Given the description of an element on the screen output the (x, y) to click on. 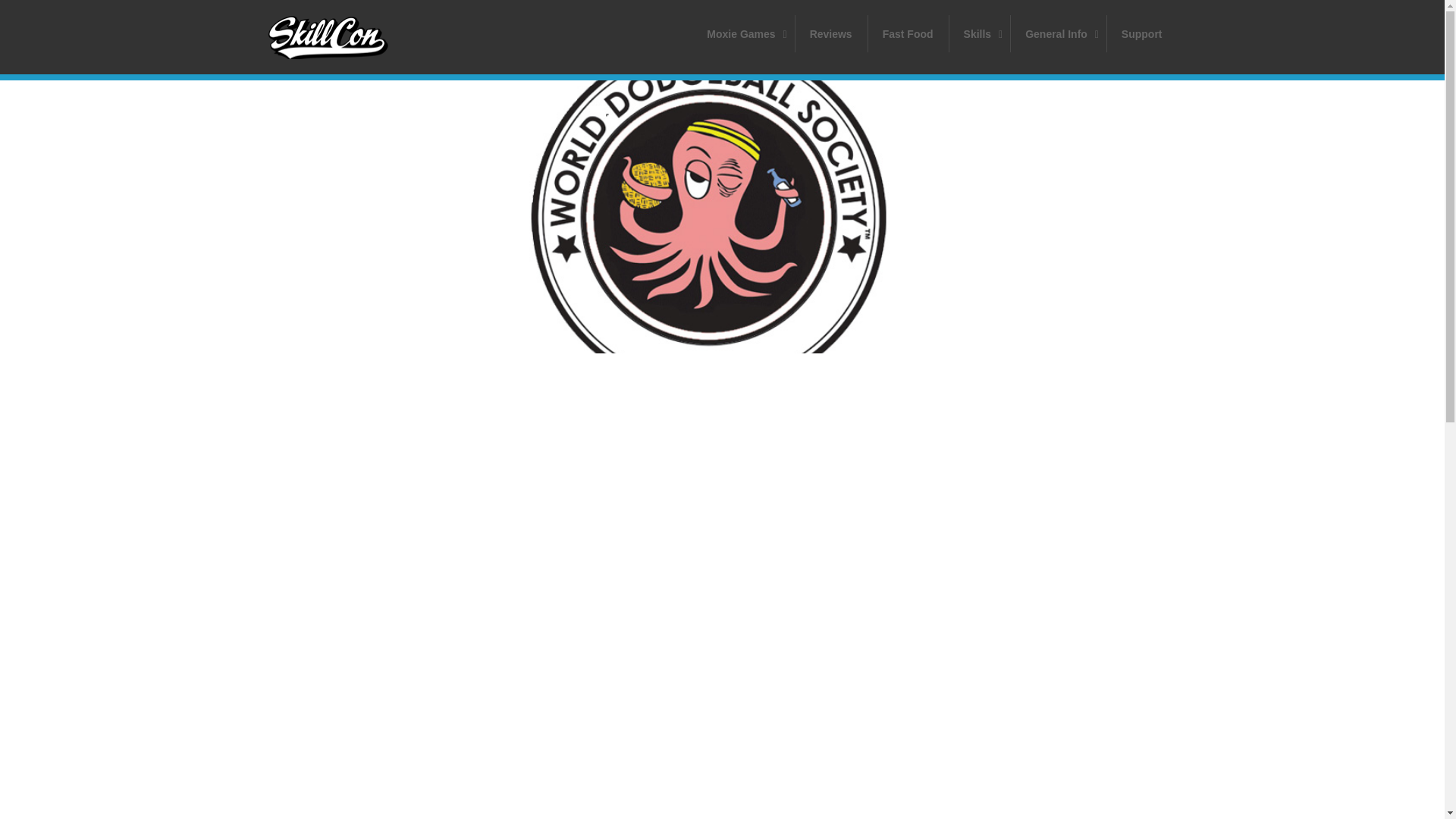
Reviews (830, 33)
SkillCon - Home of the Moxie Games on ESPN (342, 36)
Skills (979, 33)
Moxie Games (742, 33)
Fast Food (933, 33)
Skip to primary navigation (908, 33)
General Info (1141, 33)
